Given the description of an element on the screen output the (x, y) to click on. 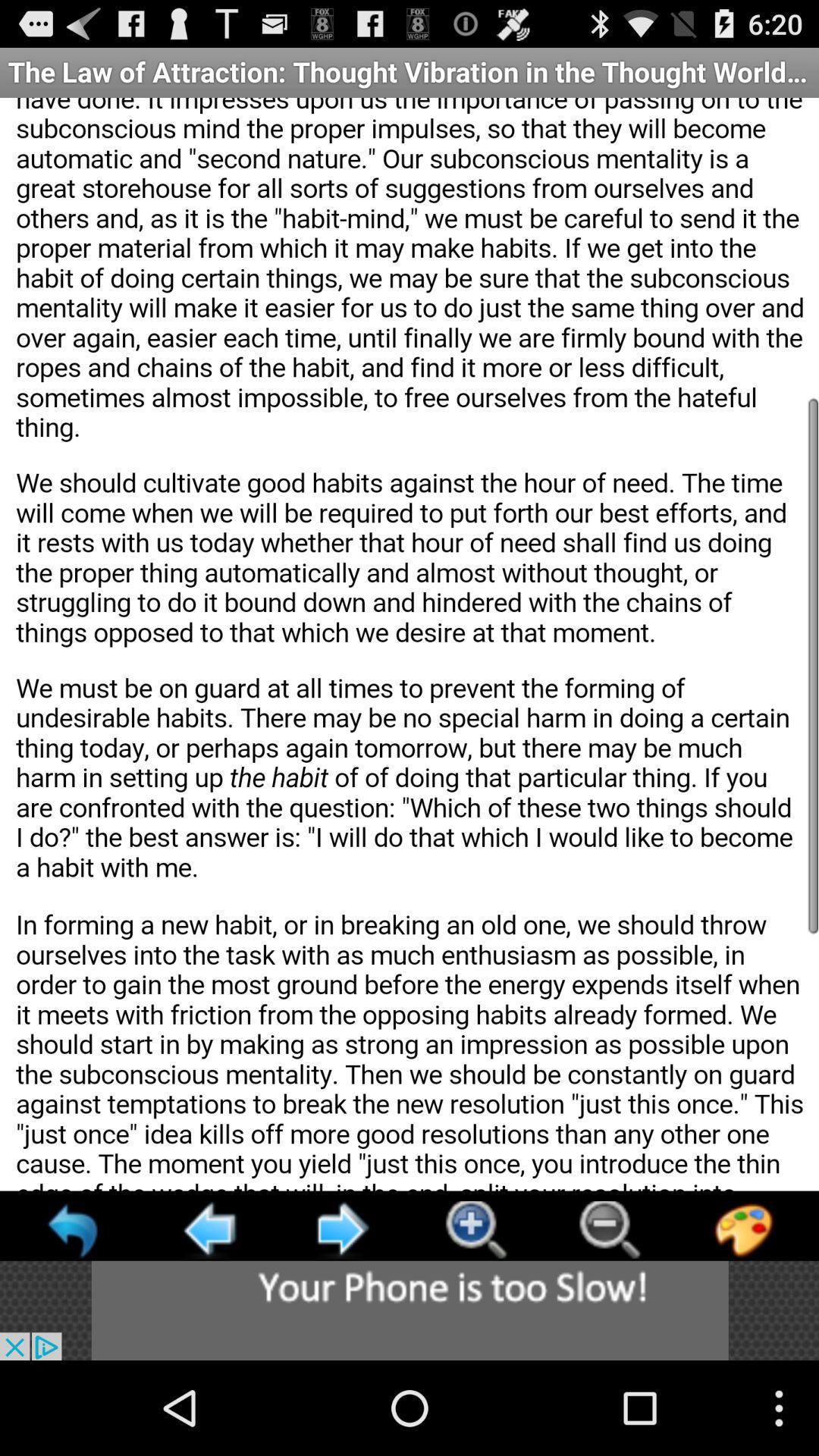
zoom out (609, 1229)
